Given the description of an element on the screen output the (x, y) to click on. 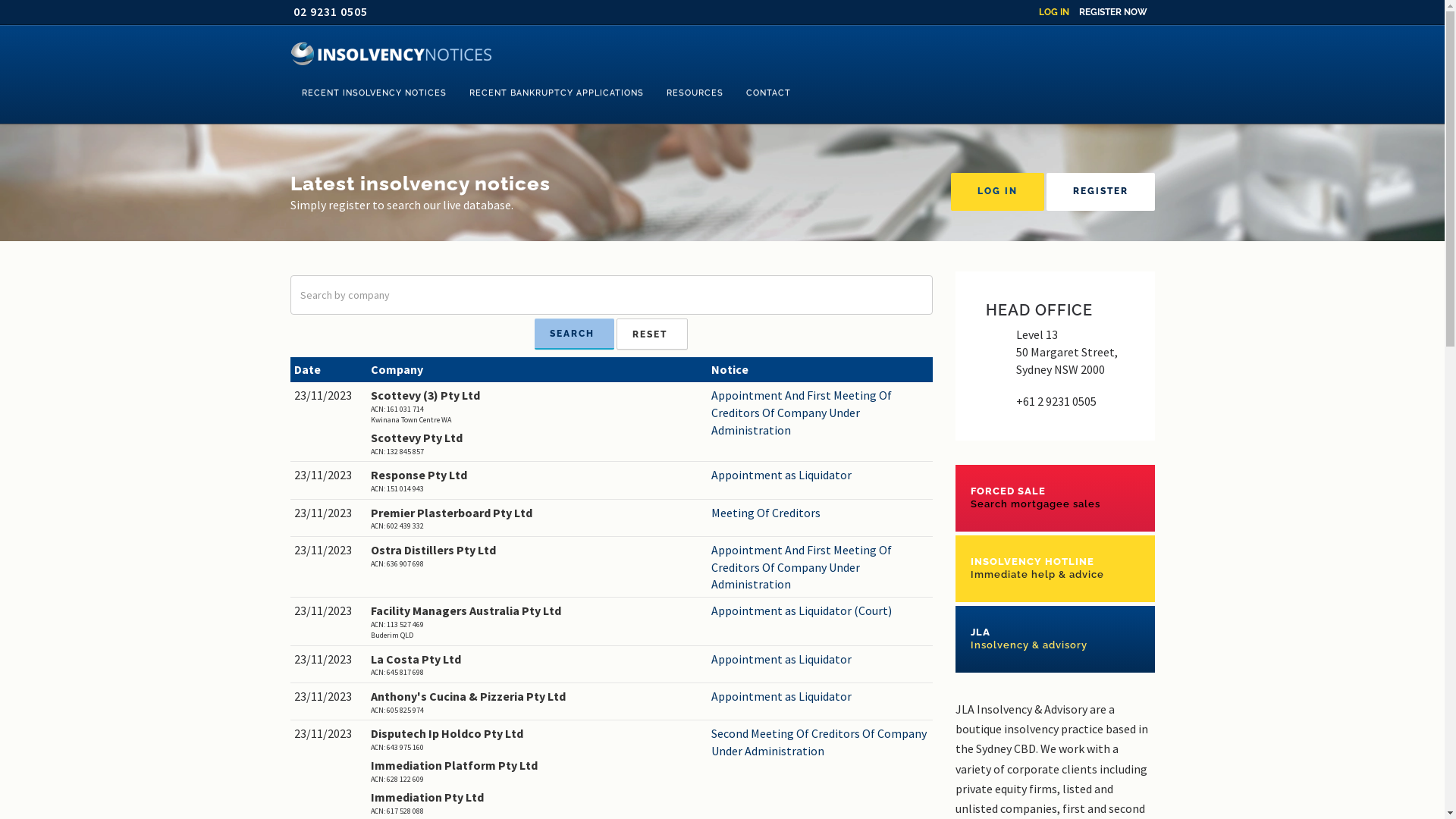
23/11/2023 Element type: text (329, 659)
23/11/2023 Element type: text (329, 395)
REGISTER Element type: text (1100, 191)
Appointment as Liquidator Element type: text (819, 696)
Appointment as Liquidator Element type: text (819, 474)
Second Meeting Of Creditors Of Company Under Administration Element type: text (819, 741)
JLA  
Insolvency & advisory Element type: text (1054, 638)
RECENT INSOLVENCY NOTICES Element type: text (373, 92)
Appointment as Liquidator (Court) Element type: text (819, 610)
23/11/2023 Element type: text (329, 549)
23/11/2023 Element type: text (329, 512)
23/11/2023 Element type: text (329, 696)
23/11/2023 Element type: text (329, 733)
Premier Plasterboard Pty Ltd
ACN: 602 439 332 Element type: text (536, 518)
La Costa Pty Ltd
ACN: 645 817 698 Element type: text (536, 664)
LOG IN Element type: text (1053, 11)
23/11/2023 Element type: text (329, 610)
RECENT BANKRUPTCY APPLICATIONS Element type: text (556, 92)
23/11/2023 Element type: text (329, 474)
RESOURCES Element type: text (694, 92)
Anthony's Cucina & Pizzeria Pty Ltd
ACN: 605 825 974 Element type: text (536, 701)
Ostra Distillers Pty Ltd
ACN: 636 907 698 Element type: text (536, 555)
Meeting Of Creditors Element type: text (819, 512)
Search Element type: text (574, 333)
CONTACT Element type: text (767, 92)
Appointment as Liquidator Element type: text (819, 659)
FORCED SALE  
Search mortgagee sales Element type: text (1054, 497)
INSOLVENCY HOTLINE  
Immediate help & advice Element type: text (1054, 568)
LOG IN Element type: text (997, 191)
REGISTER NOW Element type: text (1112, 11)
Response Pty Ltd
ACN: 151 014 943 Element type: text (536, 480)
